Given the description of an element on the screen output the (x, y) to click on. 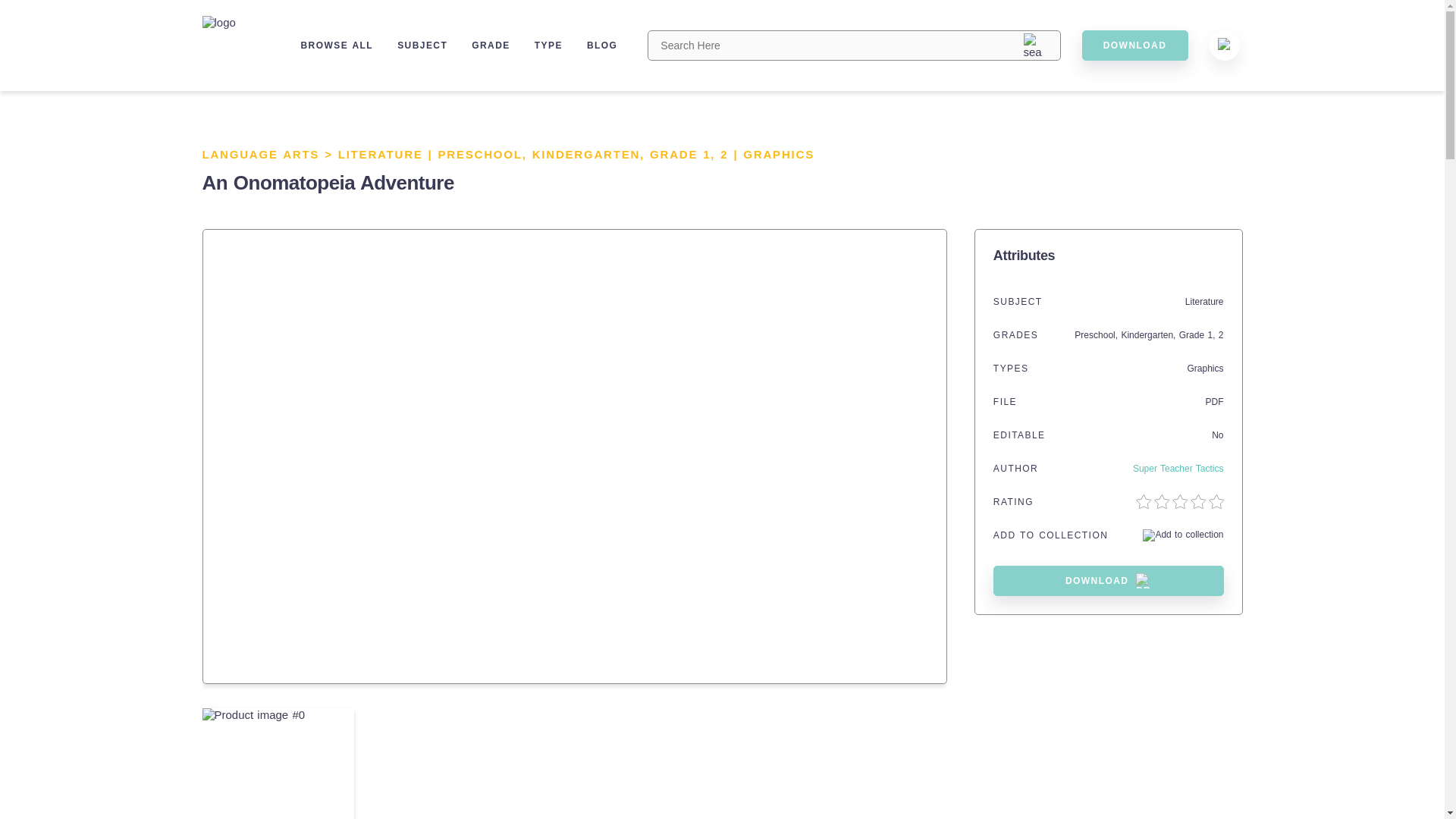
DOWNLOAD (1108, 580)
Kindergarten (1147, 335)
PRESCHOOL, (485, 154)
DOWNLOAD (1134, 45)
GRAPHICS (777, 154)
Graphics (1204, 368)
1, (711, 154)
BLOG (601, 45)
LITERATURE (380, 154)
LANGUAGE ARTS (260, 154)
